Given the description of an element on the screen output the (x, y) to click on. 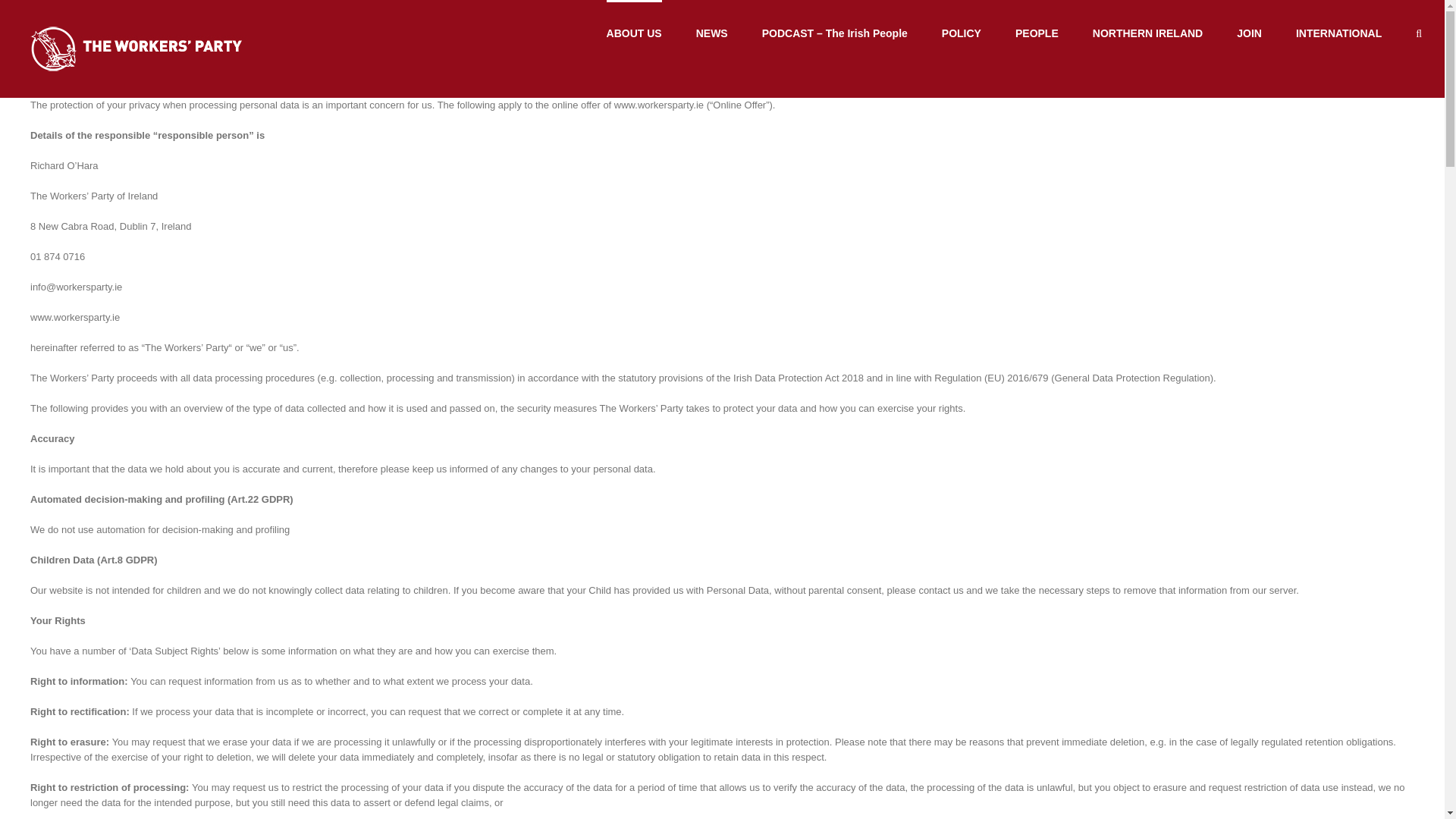
NORTHERN IRELAND (1147, 32)
INTERNATIONAL (1338, 32)
